Given the description of an element on the screen output the (x, y) to click on. 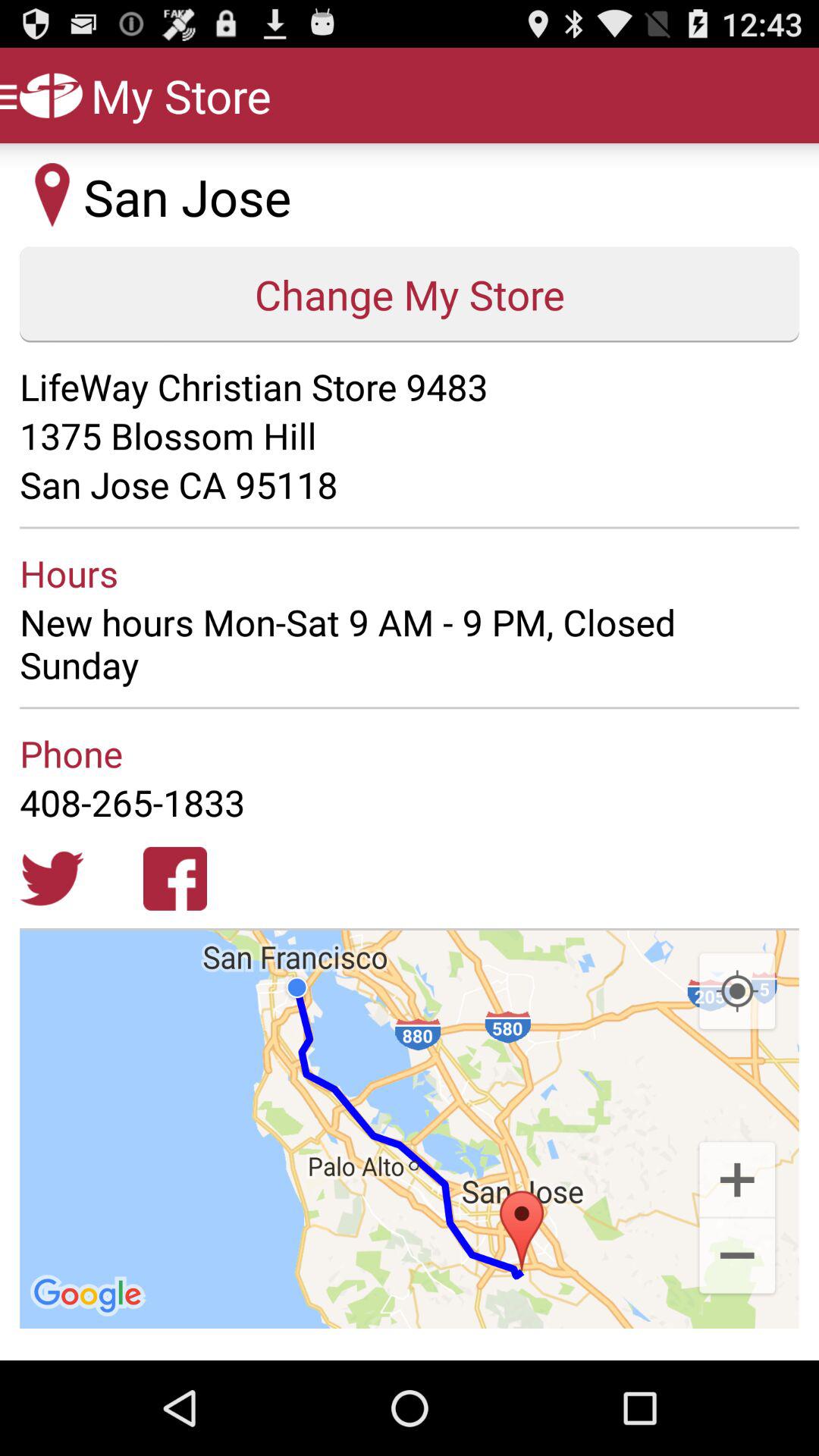
turn off icon below the 408-265-1833 app (175, 878)
